Given the description of an element on the screen output the (x, y) to click on. 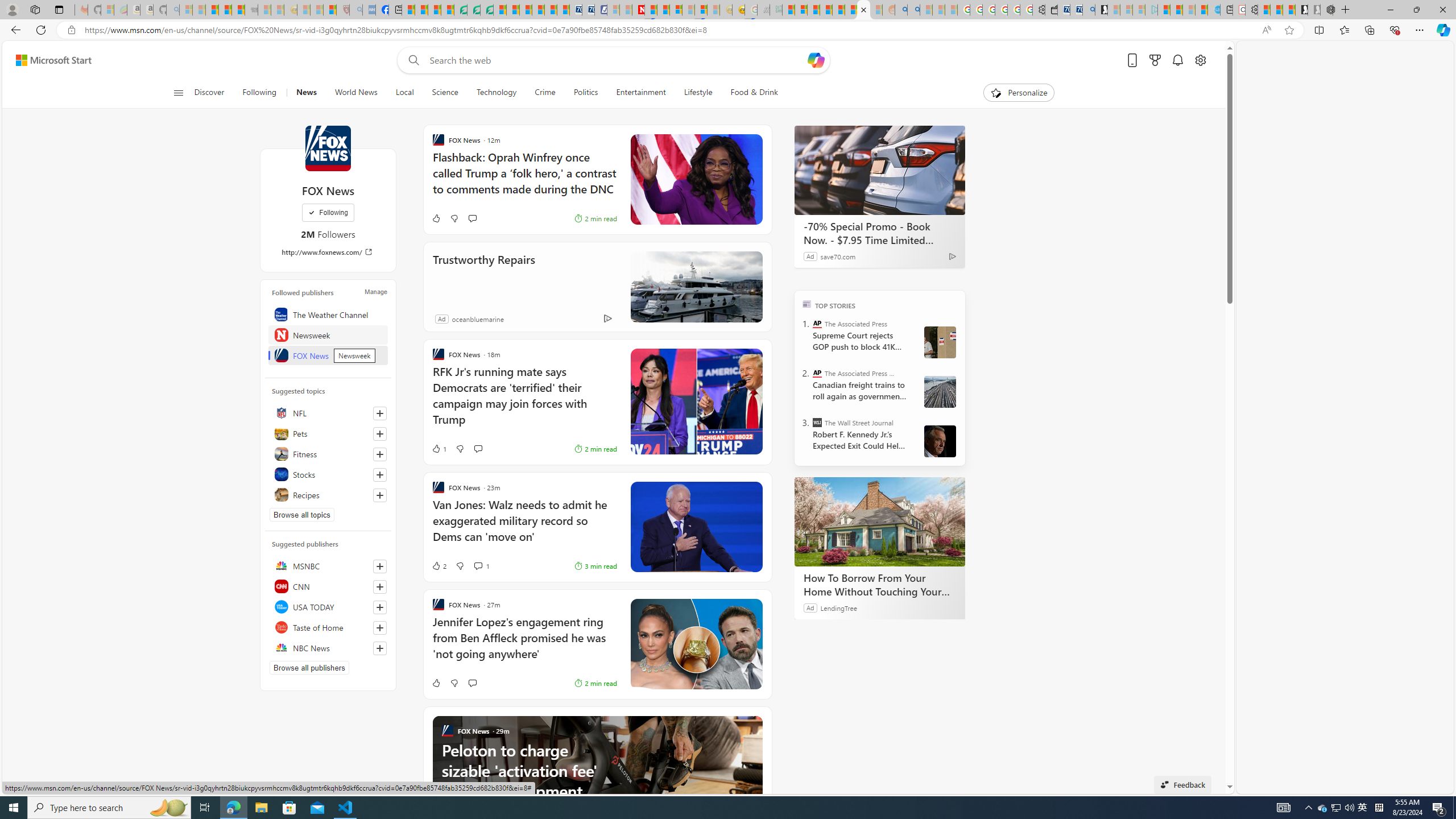
1 Like (438, 448)
Student Loan Update: Forgiveness Program Ends This Month (826, 9)
Trustworthy Repairs (483, 274)
The Weather Channel (327, 314)
Terms of Use Agreement (473, 9)
